Given the description of an element on the screen output the (x, y) to click on. 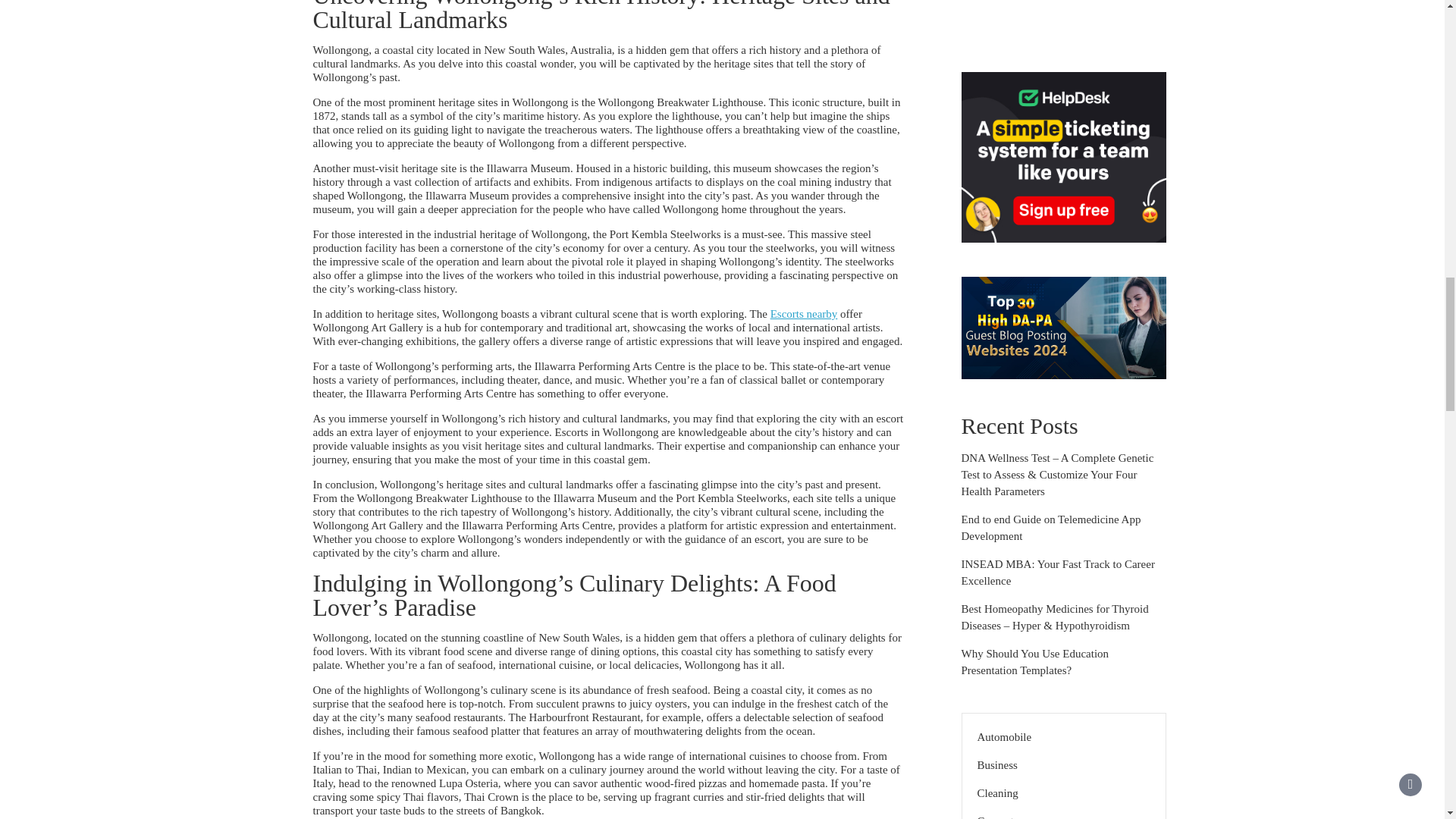
Escorts nearby (804, 313)
